Given the description of an element on the screen output the (x, y) to click on. 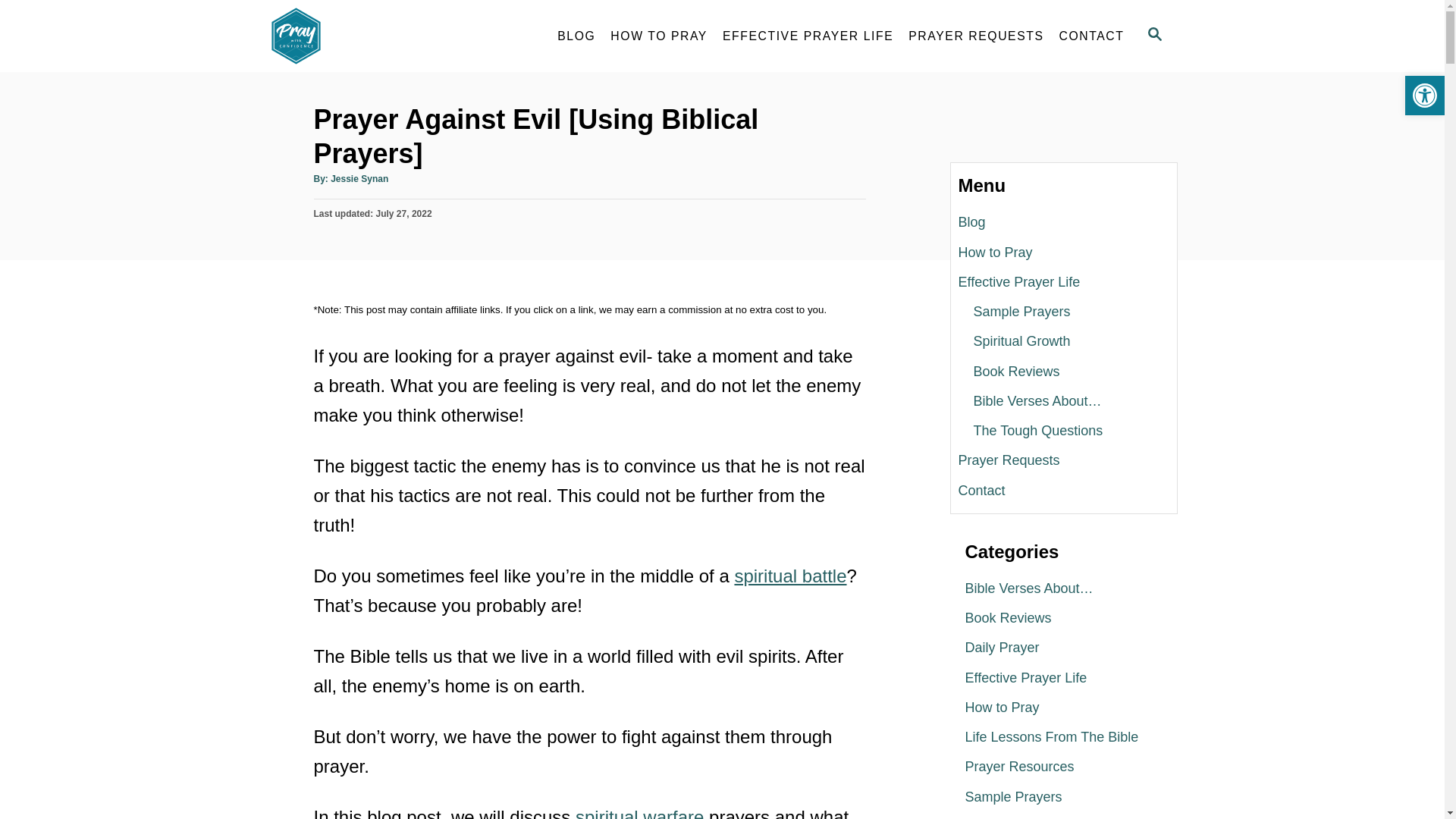
Jessie Synan (359, 178)
BLOG (576, 36)
SEARCH (1154, 35)
EFFECTIVE PRAYER LIFE (807, 36)
spiritual battle (789, 575)
Accessibility Tools (1424, 95)
CONTACT (1091, 36)
spiritual warfare (639, 812)
PRAYER REQUESTS (976, 36)
HOW TO PRAY (658, 36)
